Given the description of an element on the screen output the (x, y) to click on. 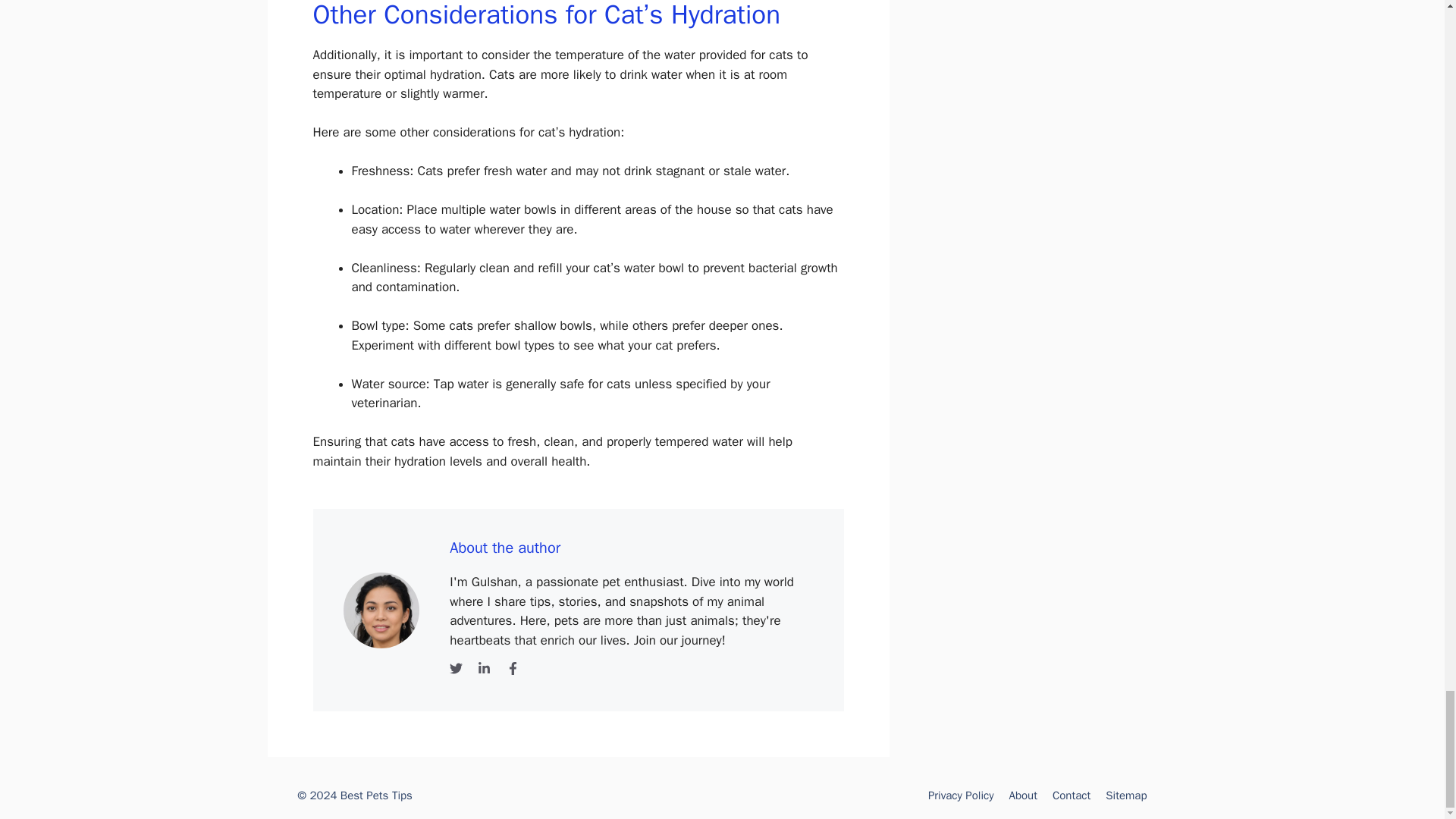
Privacy Policy (961, 795)
